Given the description of an element on the screen output the (x, y) to click on. 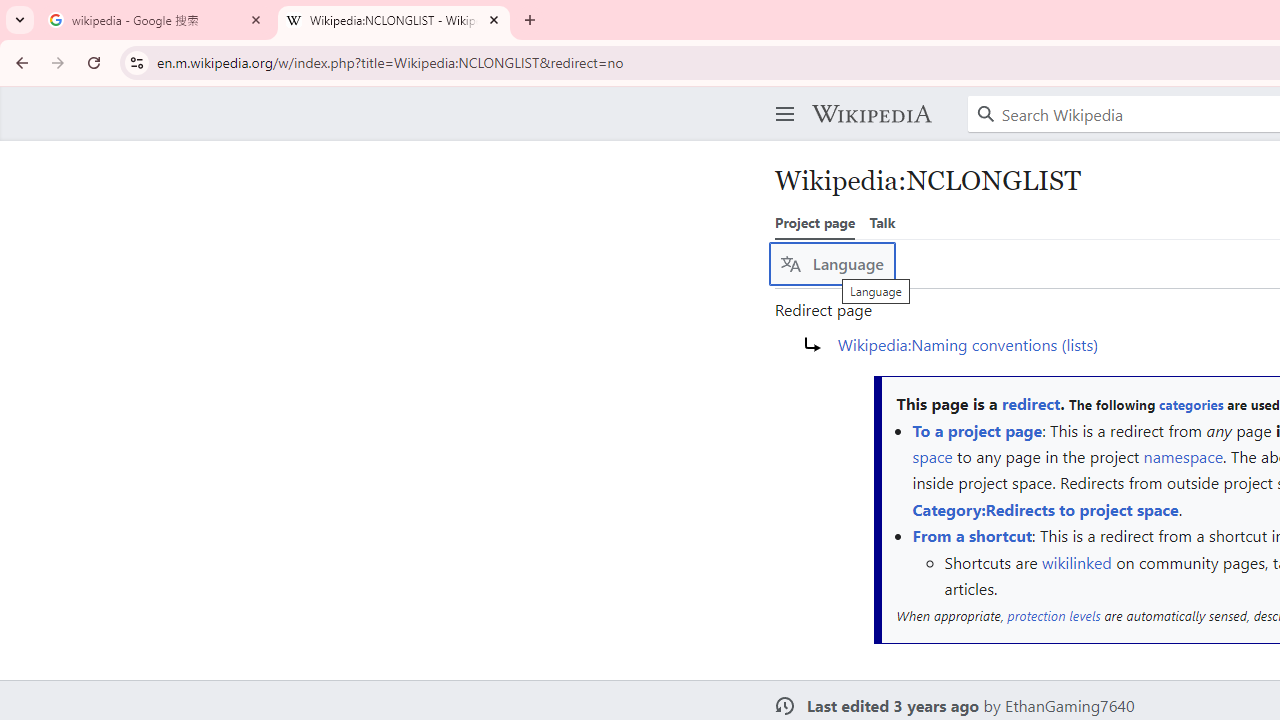
Category:Redirects to project space (1044, 508)
Wikipedia:Naming conventions (lists) (968, 343)
Talk (882, 222)
Language (832, 264)
wikilinked (1076, 561)
Project page (815, 222)
namespace (1183, 455)
Wikipedia:NCLONGLIST - Wikipedia (394, 20)
protection levels (1053, 615)
redirect (1030, 403)
